Given the description of an element on the screen output the (x, y) to click on. 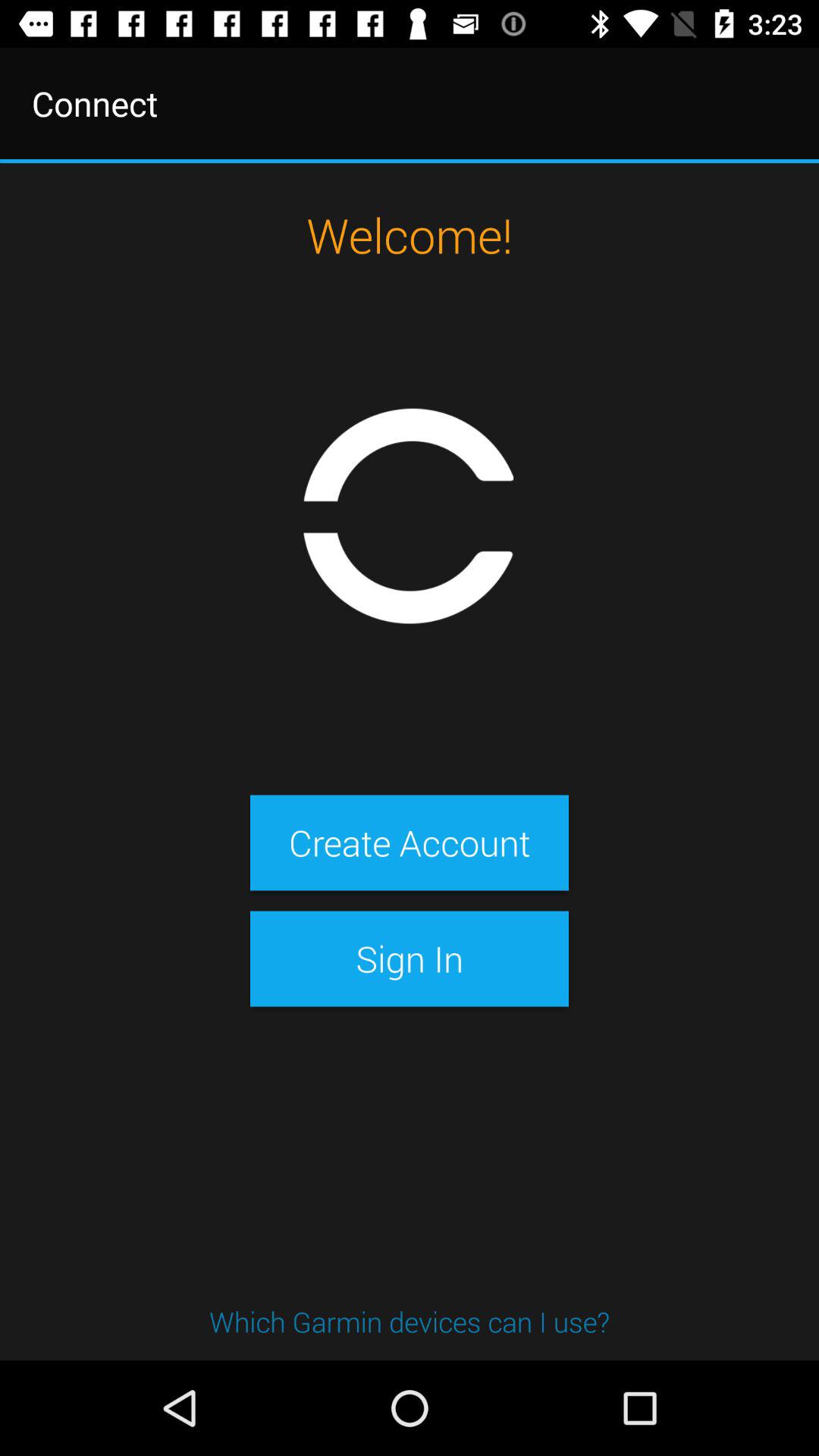
swipe to sign in (409, 958)
